Given the description of an element on the screen output the (x, y) to click on. 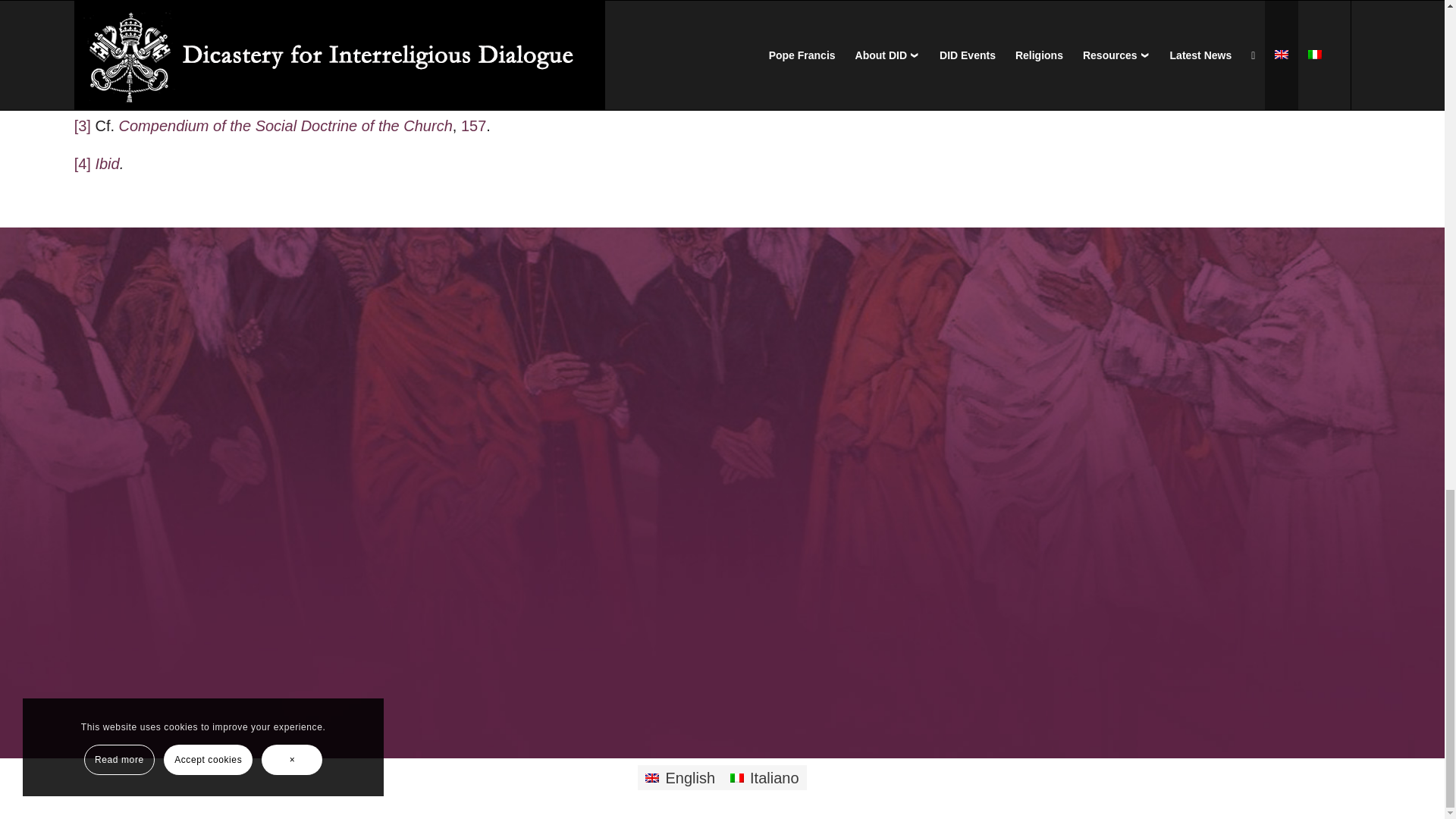
Address to the General Assembly of the United Nations (279, 87)
Address to the General Assembly of the United Nations (279, 49)
Ibid (106, 163)
Compendium of the Social Doctrine of the Church (285, 125)
157 (473, 125)
